Given the description of an element on the screen output the (x, y) to click on. 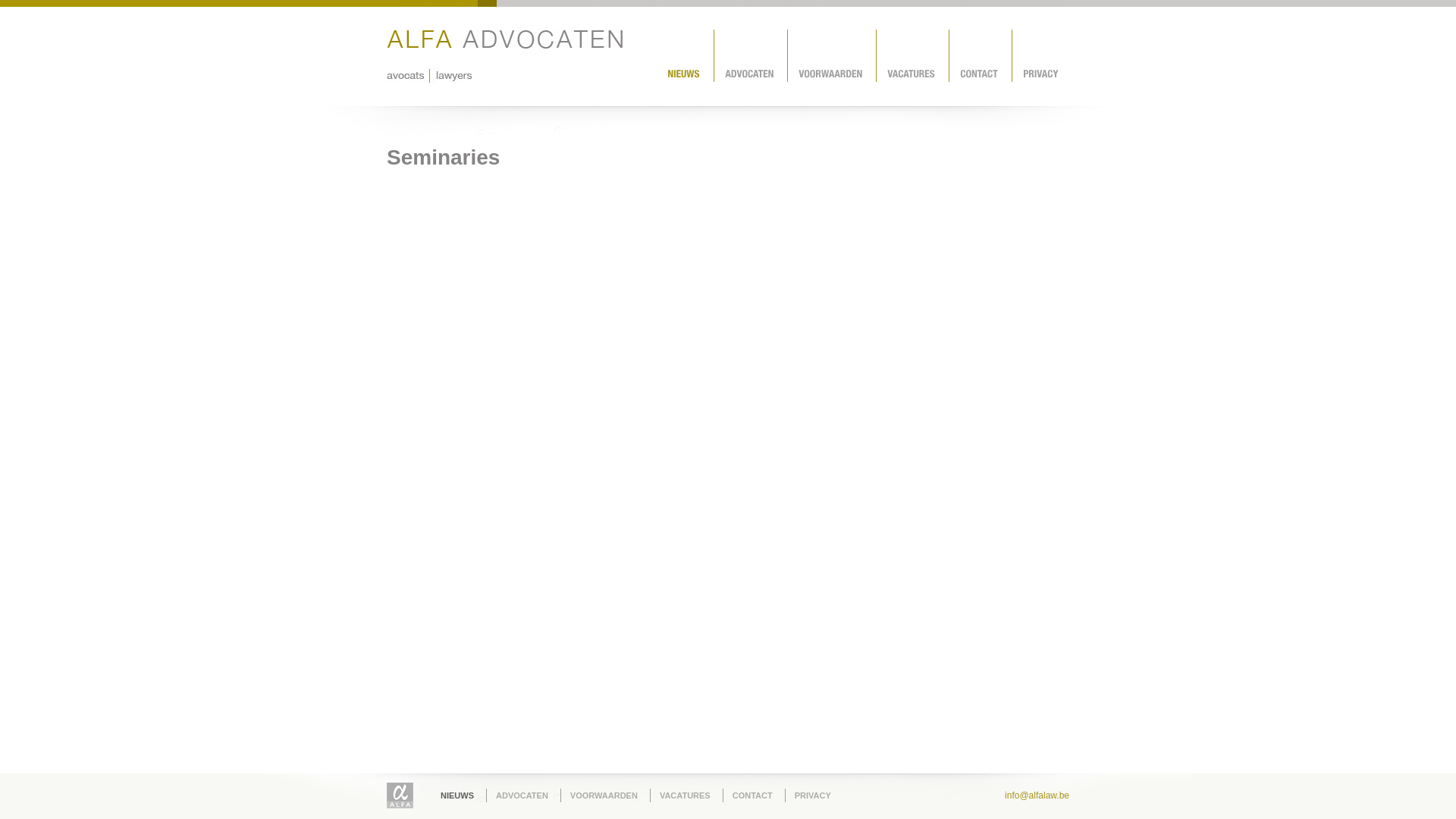
Alfa Advocaten | Fiscale specialisten Element type: hover (399, 795)
CONTACT Element type: text (752, 795)
ADVOCATEN Element type: text (521, 795)
NIEUWS Element type: text (457, 795)
Alfa Advocaten | Fiscale specialisten Element type: hover (504, 56)
PRIVACY Element type: text (812, 795)
VACATURES Element type: text (685, 795)
VOORWAARDEN Element type: text (603, 795)
info@alfalaw.be Element type: text (1036, 795)
